Given the description of an element on the screen output the (x, y) to click on. 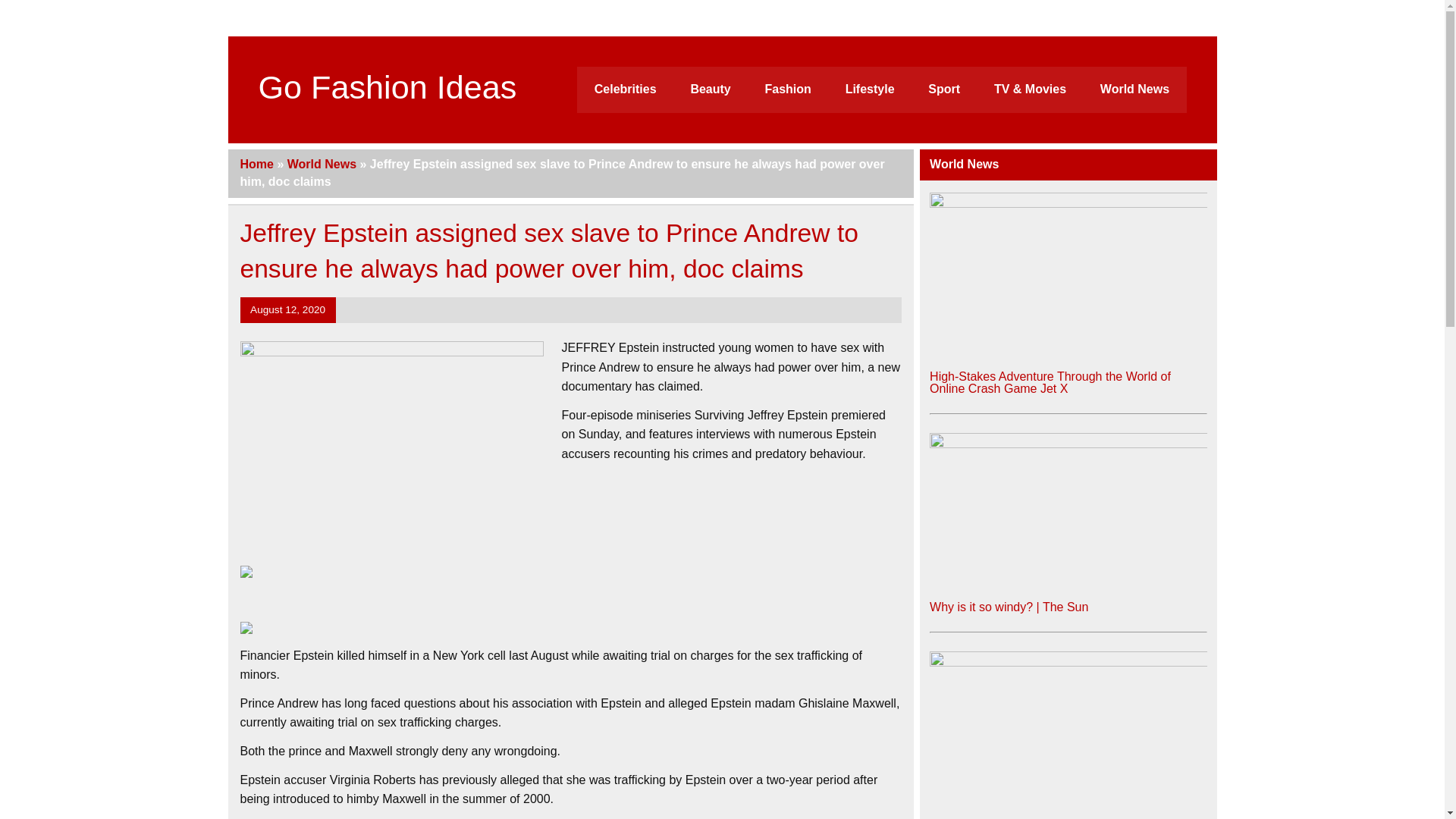
Celebrities (624, 89)
Go Fashion Ideas (386, 86)
August 12, 2020 (287, 309)
Beauty (710, 89)
World News (321, 164)
17:17 (287, 309)
Sport (943, 89)
Lifestyle (869, 89)
Fashion (788, 89)
World News (1134, 89)
Home (256, 164)
